Given the description of an element on the screen output the (x, y) to click on. 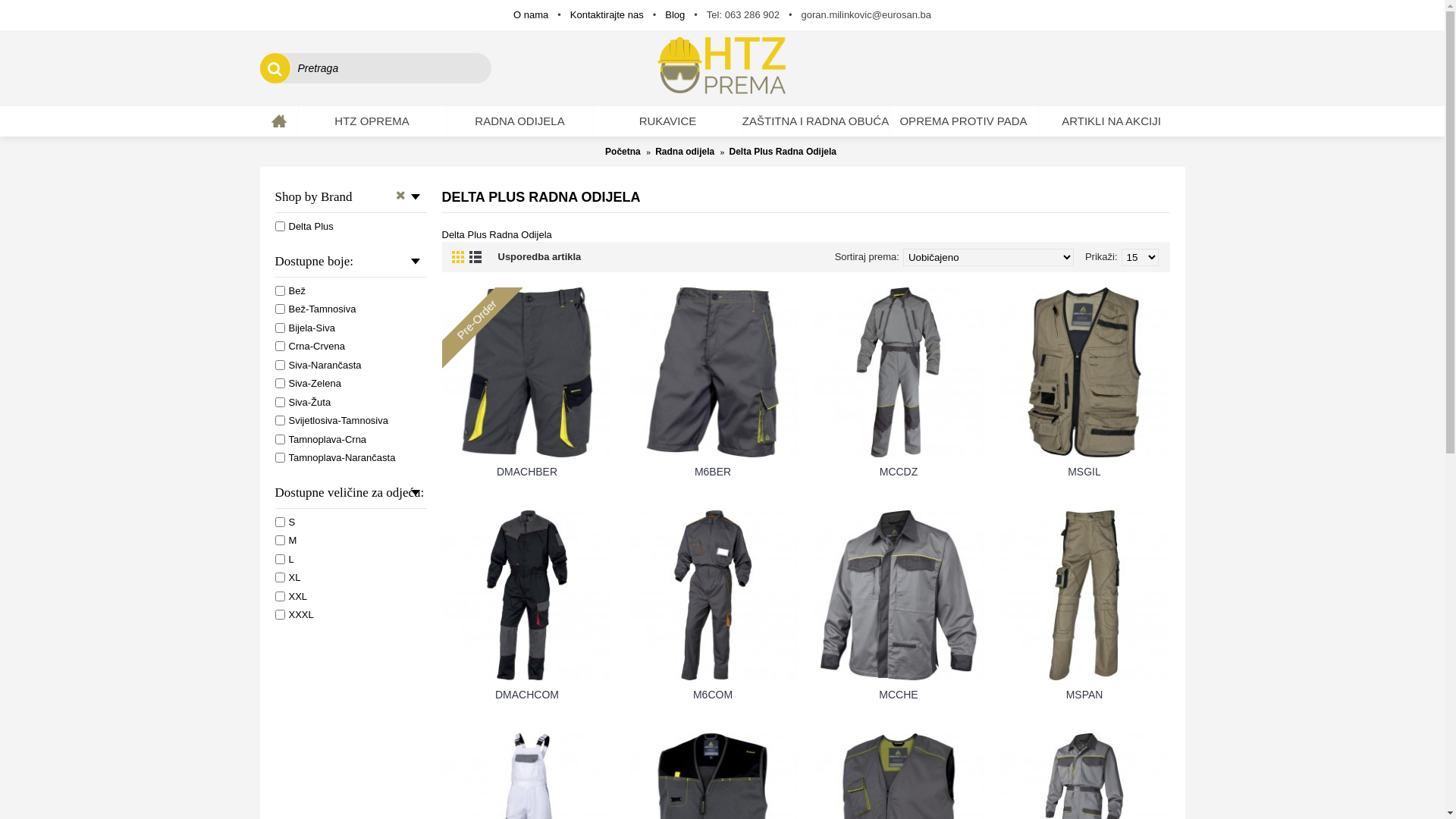
MSPAN Element type: hover (1084, 595)
OPREMA PROTIV PADA Element type: text (963, 121)
HTZ OPREMA Element type: text (371, 121)
DMACHCOM Element type: hover (526, 595)
Usporedba artikla Element type: text (538, 256)
MSGIL Element type: hover (1084, 372)
DMACHBER Element type: hover (526, 372)
MCCDZ Element type: hover (897, 372)
Delta Plus Radna Odijela Element type: text (782, 151)
M6COM Element type: text (712, 693)
ARTIKLI NA AKCIJI Element type: text (1110, 121)
Blog Element type: text (674, 15)
Radna odijela Element type: text (684, 151)
M6BER Element type: hover (712, 372)
DMACHCOM Element type: text (526, 693)
DMACHBER Element type: text (526, 470)
RUKAVICE Element type: text (667, 121)
MCCHE Element type: hover (897, 595)
MCCDZ Element type: text (897, 470)
RADNA ODIJELA Element type: text (519, 121)
HTZ oprema Element type: hover (722, 68)
MCCHE Element type: text (897, 693)
Kontaktirajte nas Element type: text (606, 15)
MSGIL Element type: text (1084, 470)
M6COM Element type: hover (712, 595)
M6BER Element type: text (712, 470)
MSPAN Element type: text (1084, 693)
O nama Element type: text (530, 15)
